Given the description of an element on the screen output the (x, y) to click on. 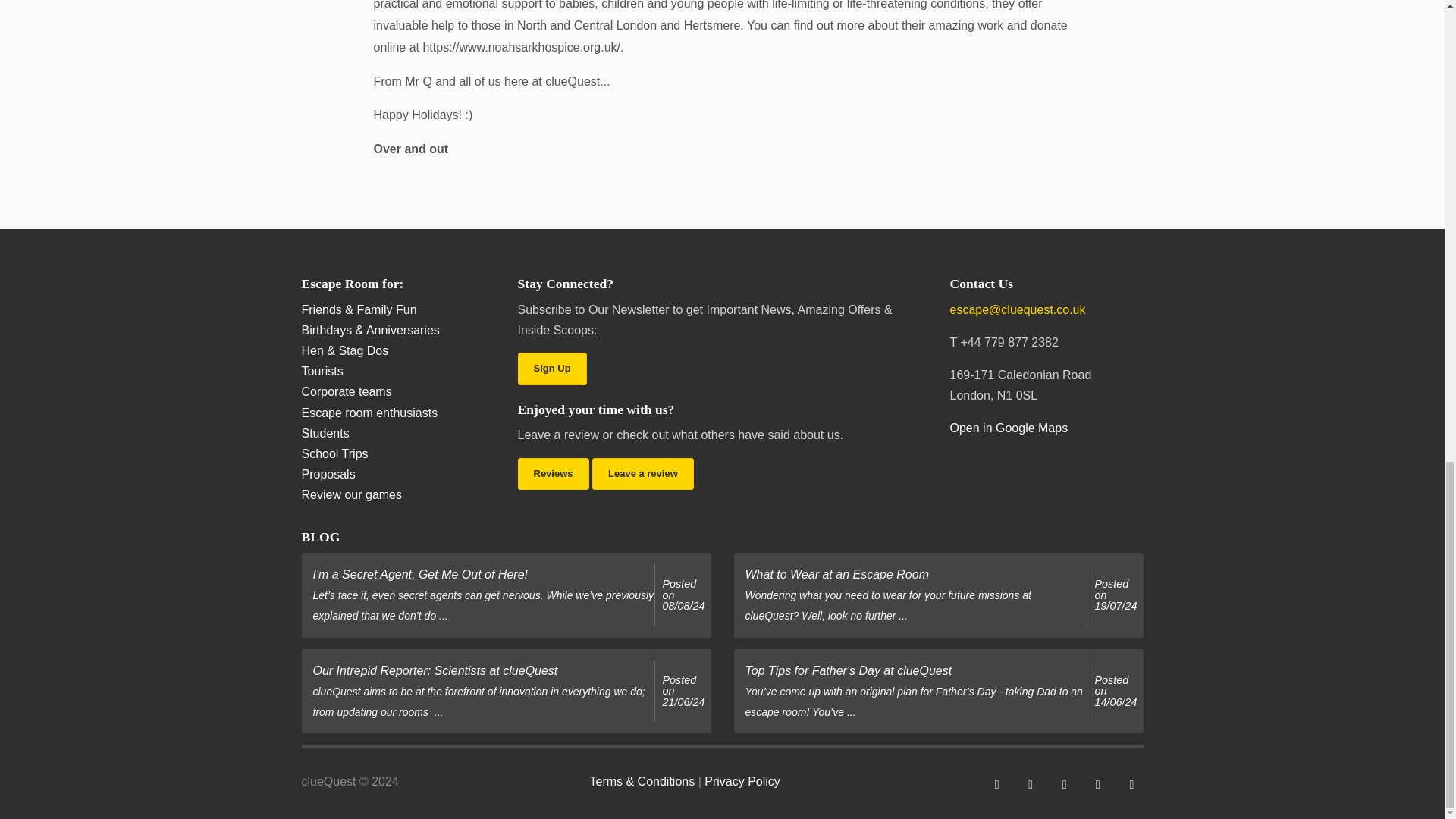
Tripadvisor (1097, 782)
What to Wear at an Escape Room (1115, 594)
Email (1130, 782)
Facebook (997, 782)
Twitter (1030, 782)
Top Tips for Father's Day at clueQuest (1115, 690)
I'm a Secret Agent, Get Me Out of Here!  (683, 594)
Instagram (1063, 782)
Our Intrepid Reporter: Scientists at clueQuest (683, 690)
